Given the description of an element on the screen output the (x, y) to click on. 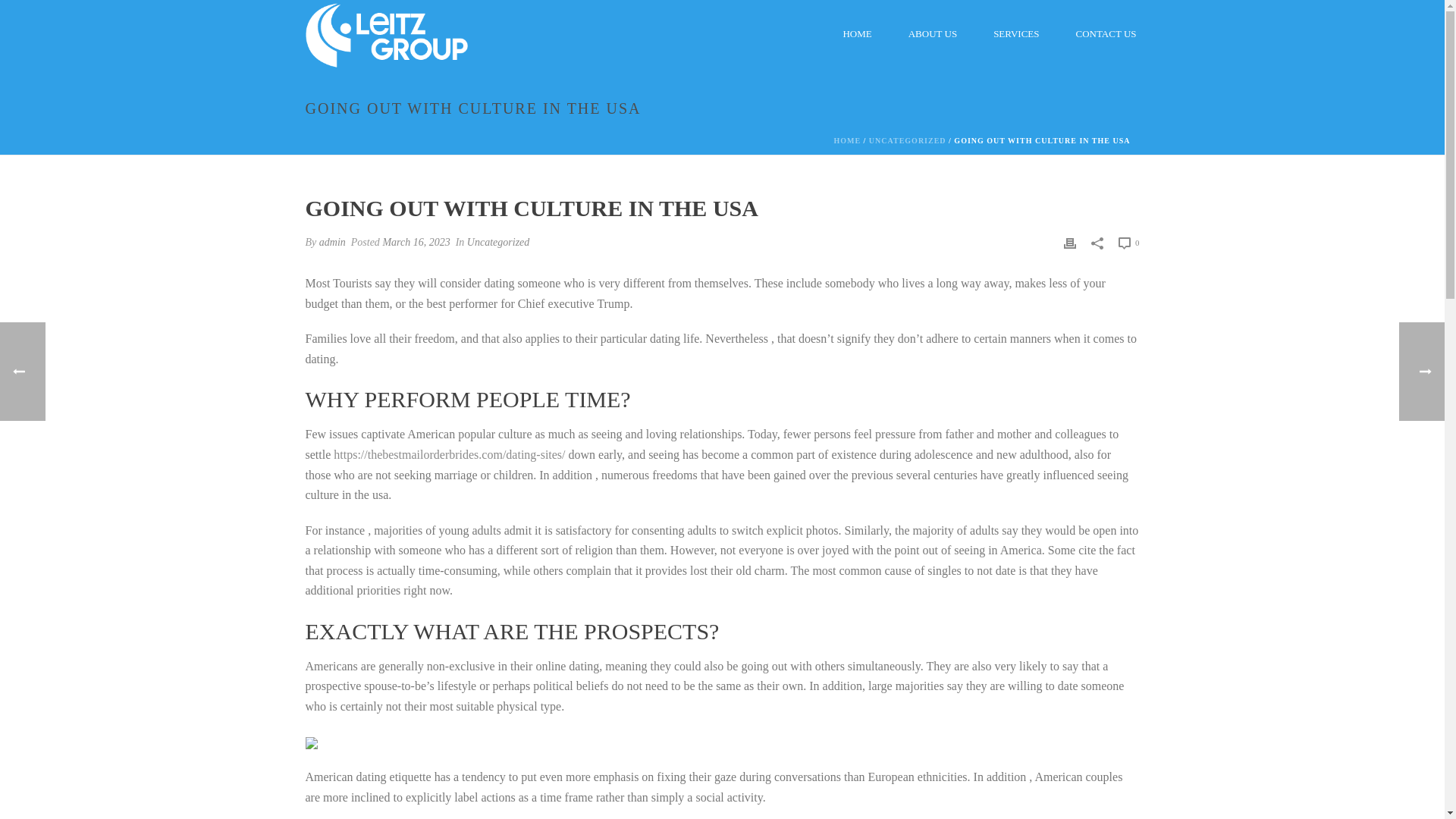
admin (332, 242)
HOME (856, 32)
HOME (856, 32)
Print (1069, 241)
Posts by admin (332, 242)
Uncategorized (498, 242)
UNCATEGORIZED (907, 140)
ABOUT US (932, 32)
HOME (846, 140)
CONTACT US (1106, 32)
CONTACT US (1106, 32)
0 (1128, 242)
March 16, 2023 (415, 242)
SERVICES (1015, 32)
SERVICES (1015, 32)
